Given the description of an element on the screen output the (x, y) to click on. 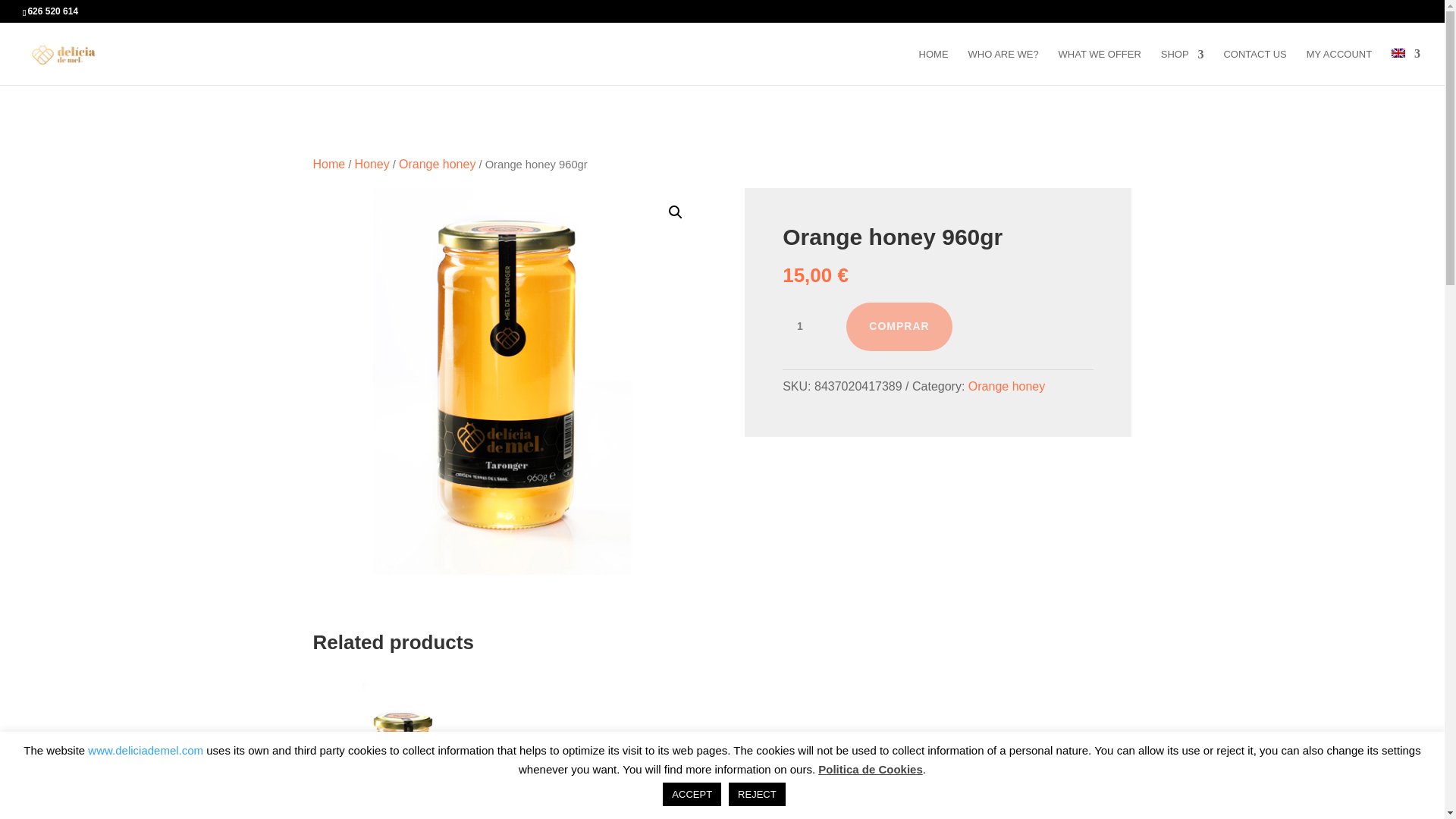
WHAT WE OFFER (1099, 67)
CONTACT US (1254, 67)
SHOP (1182, 67)
1 (805, 326)
WHO ARE WE? (1003, 67)
MY ACCOUNT (1338, 67)
